Given the description of an element on the screen output the (x, y) to click on. 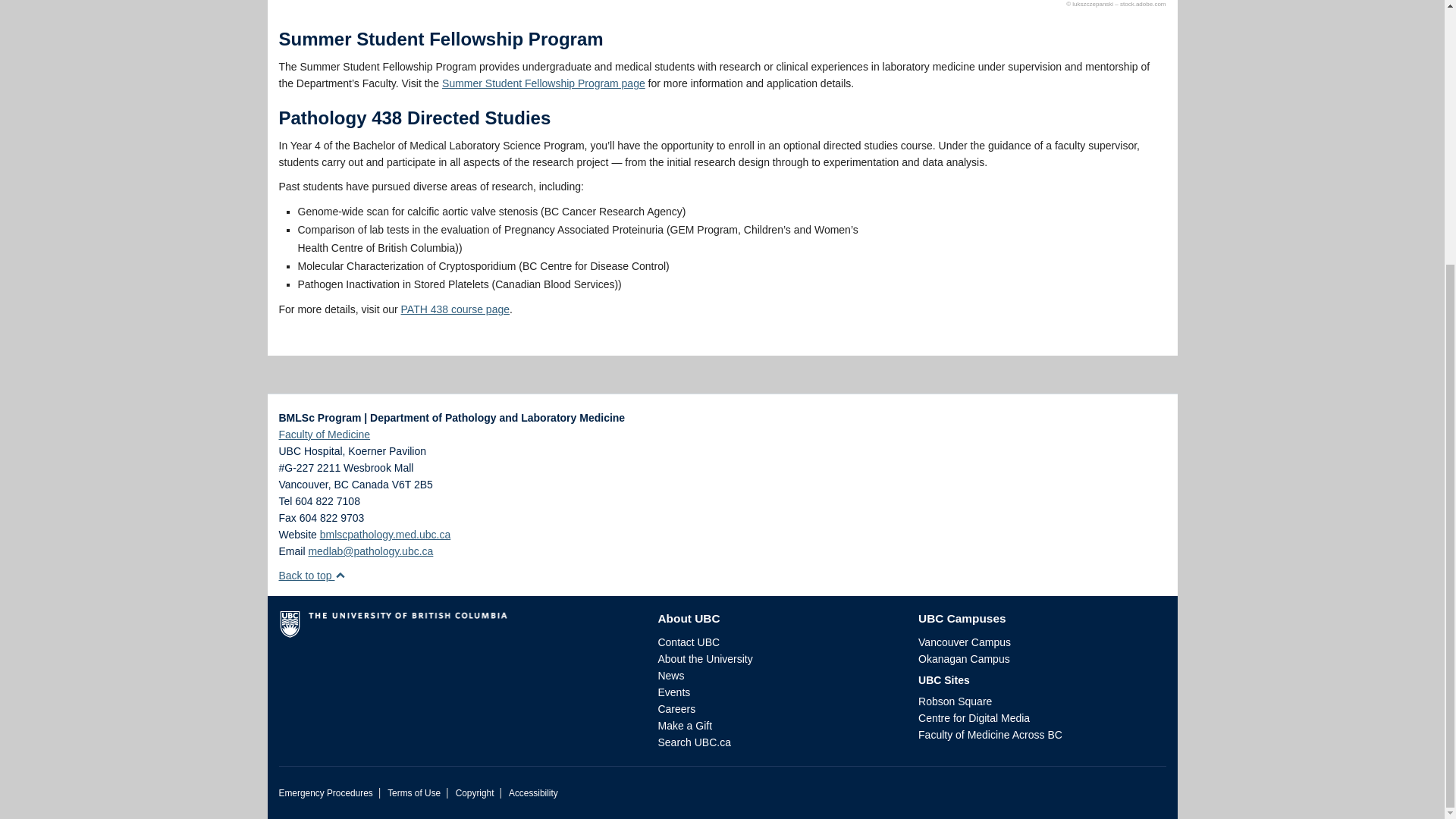
Terms of Use (414, 792)
Accessibility (532, 792)
Emergency Procedures (325, 792)
Back to top (312, 575)
UBC Copyright (475, 792)
